Given the description of an element on the screen output the (x, y) to click on. 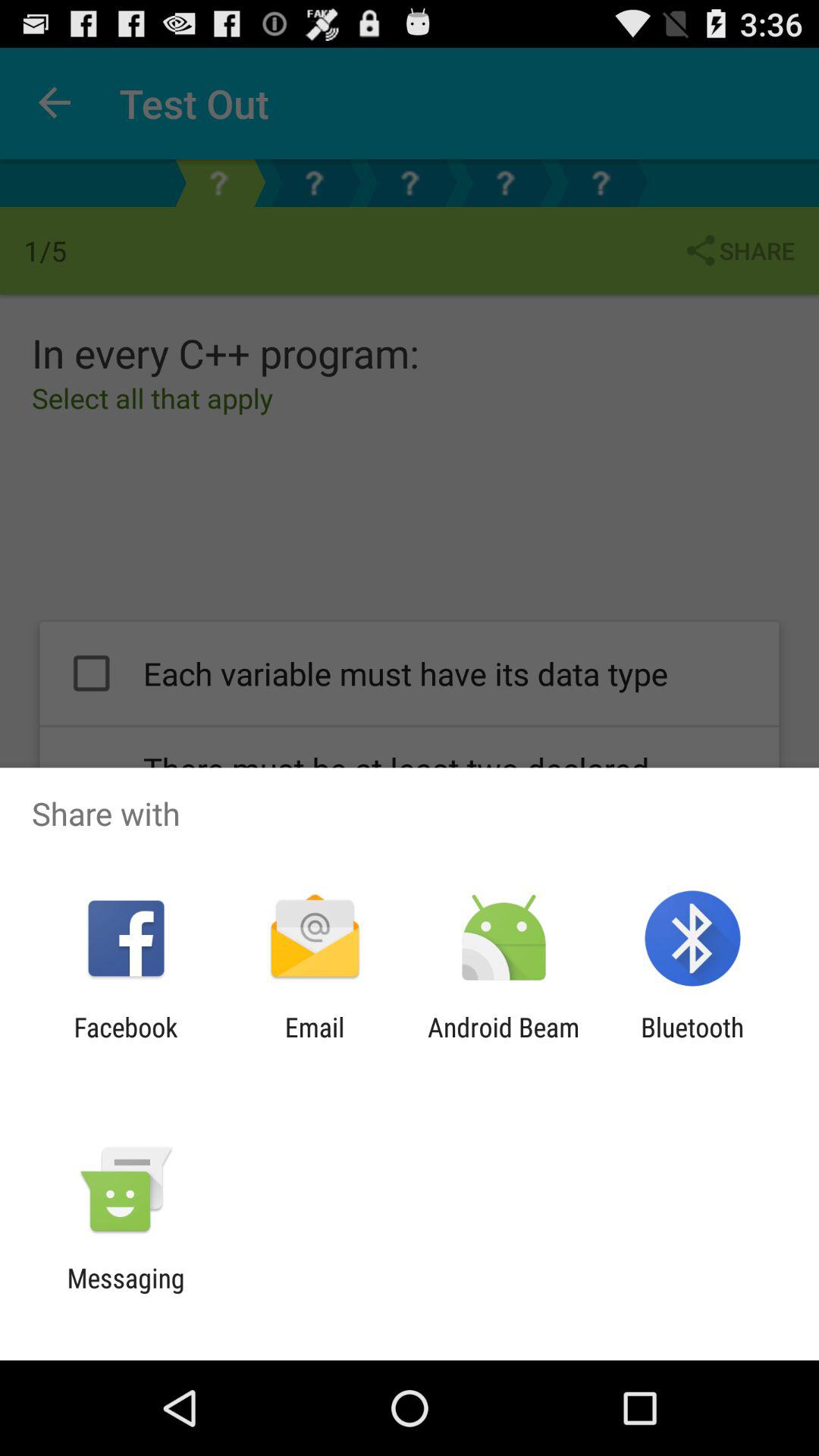
launch the icon next to the email (125, 1042)
